Given the description of an element on the screen output the (x, y) to click on. 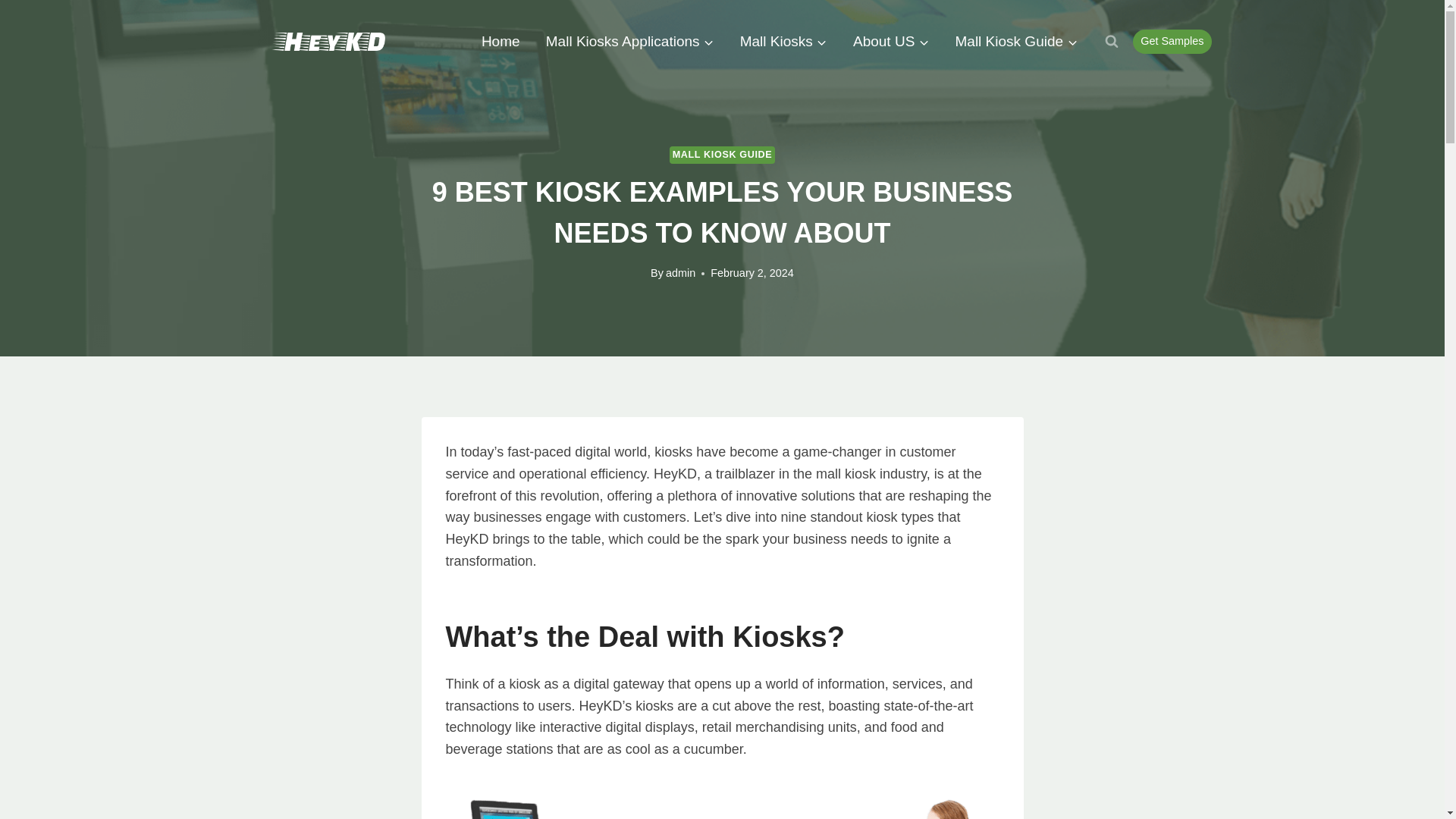
About US (891, 41)
Mall Kiosks (783, 41)
Mall Kiosks Applications (629, 41)
Mall Kiosk Guide (1016, 41)
Home (500, 41)
